Given the description of an element on the screen output the (x, y) to click on. 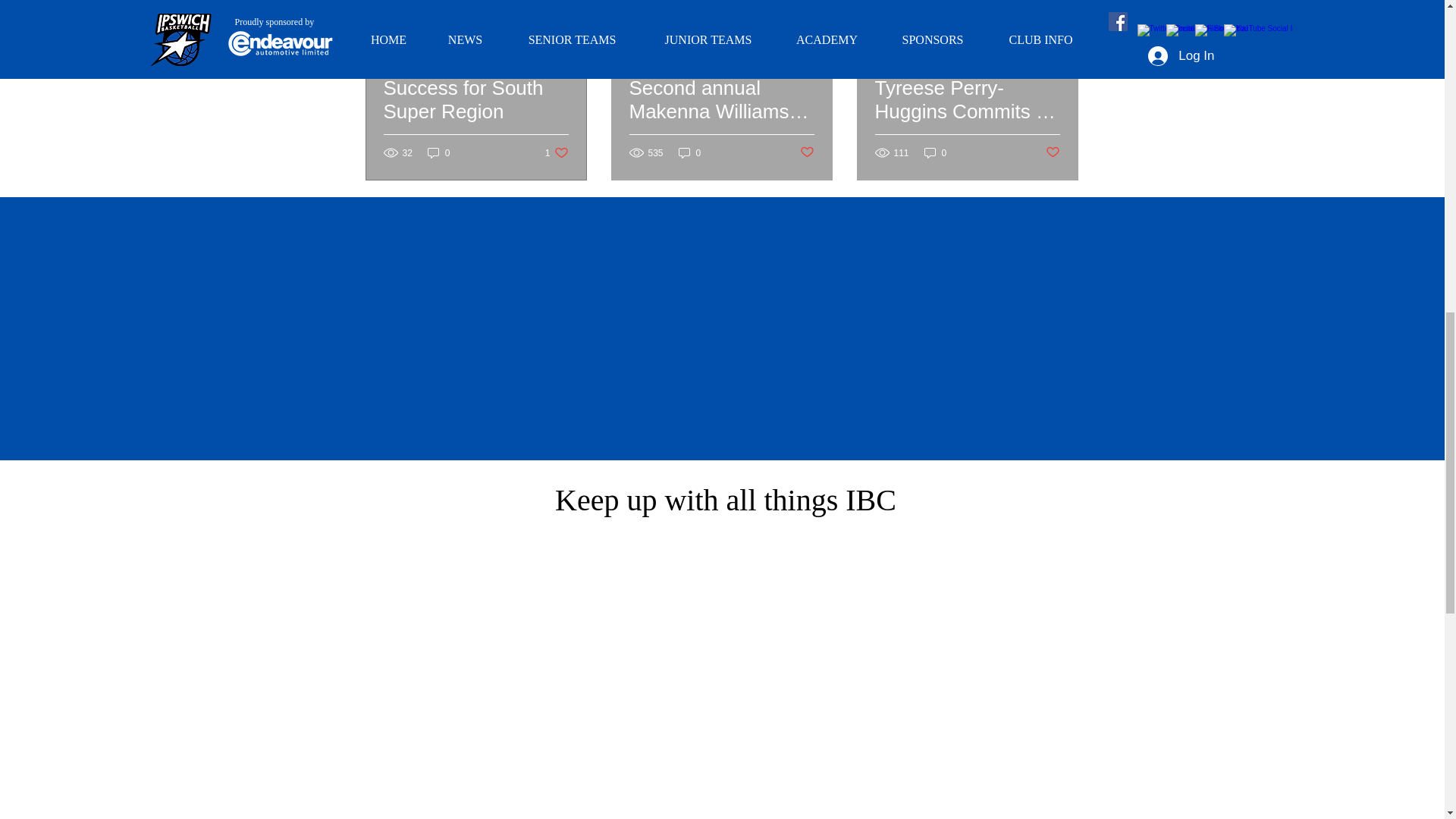
Jul 8 (393, 2)
2 min (926, 2)
2 min (681, 2)
0 (690, 152)
0 (438, 152)
Success for South Super Region (476, 117)
Jun 29 (642, 2)
Second annual Makenna Williams Memorial Game announced (720, 117)
Jun 11 (888, 2)
